Given the description of an element on the screen output the (x, y) to click on. 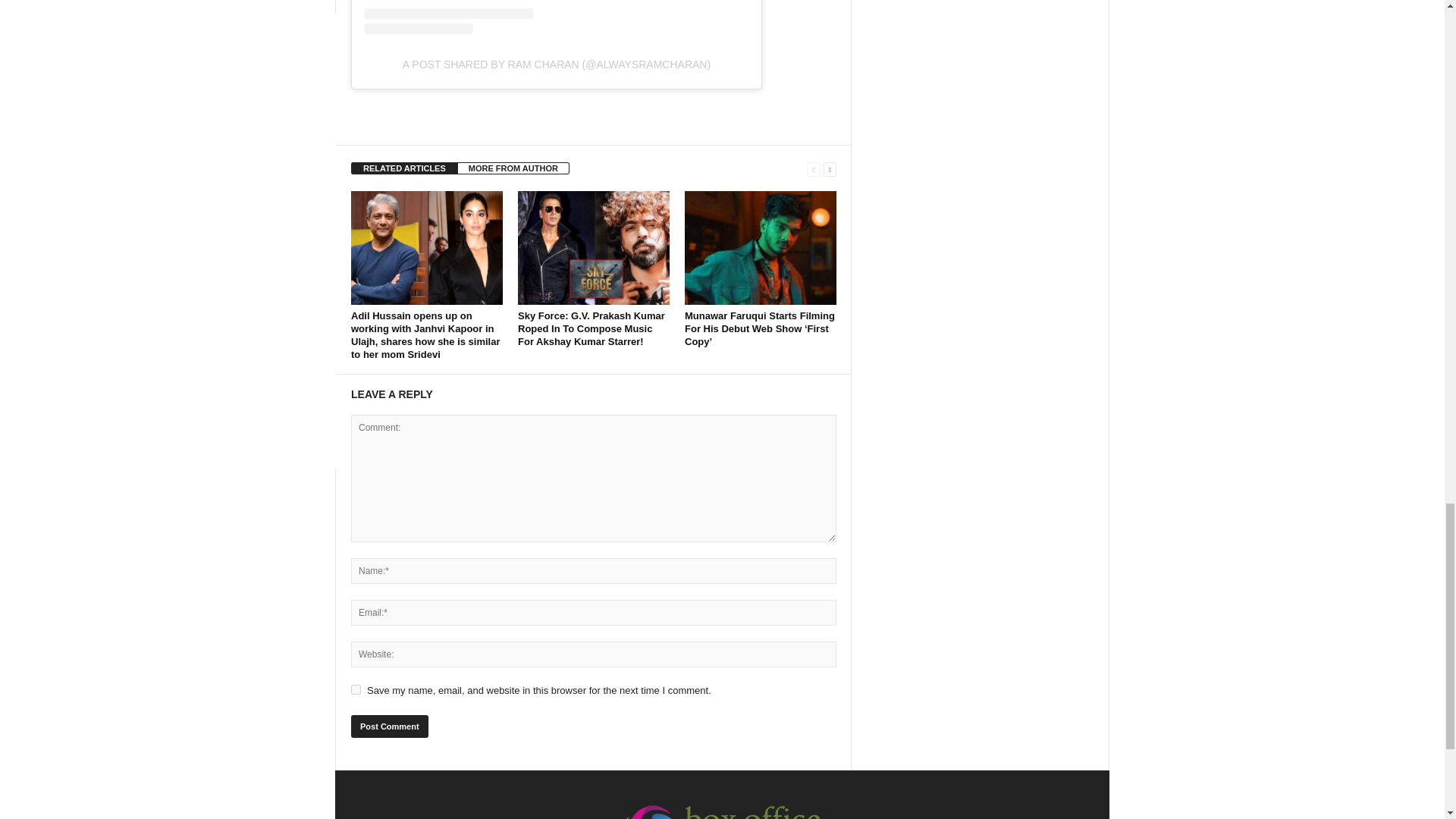
Post Comment (389, 725)
yes (355, 689)
